Given the description of an element on the screen output the (x, y) to click on. 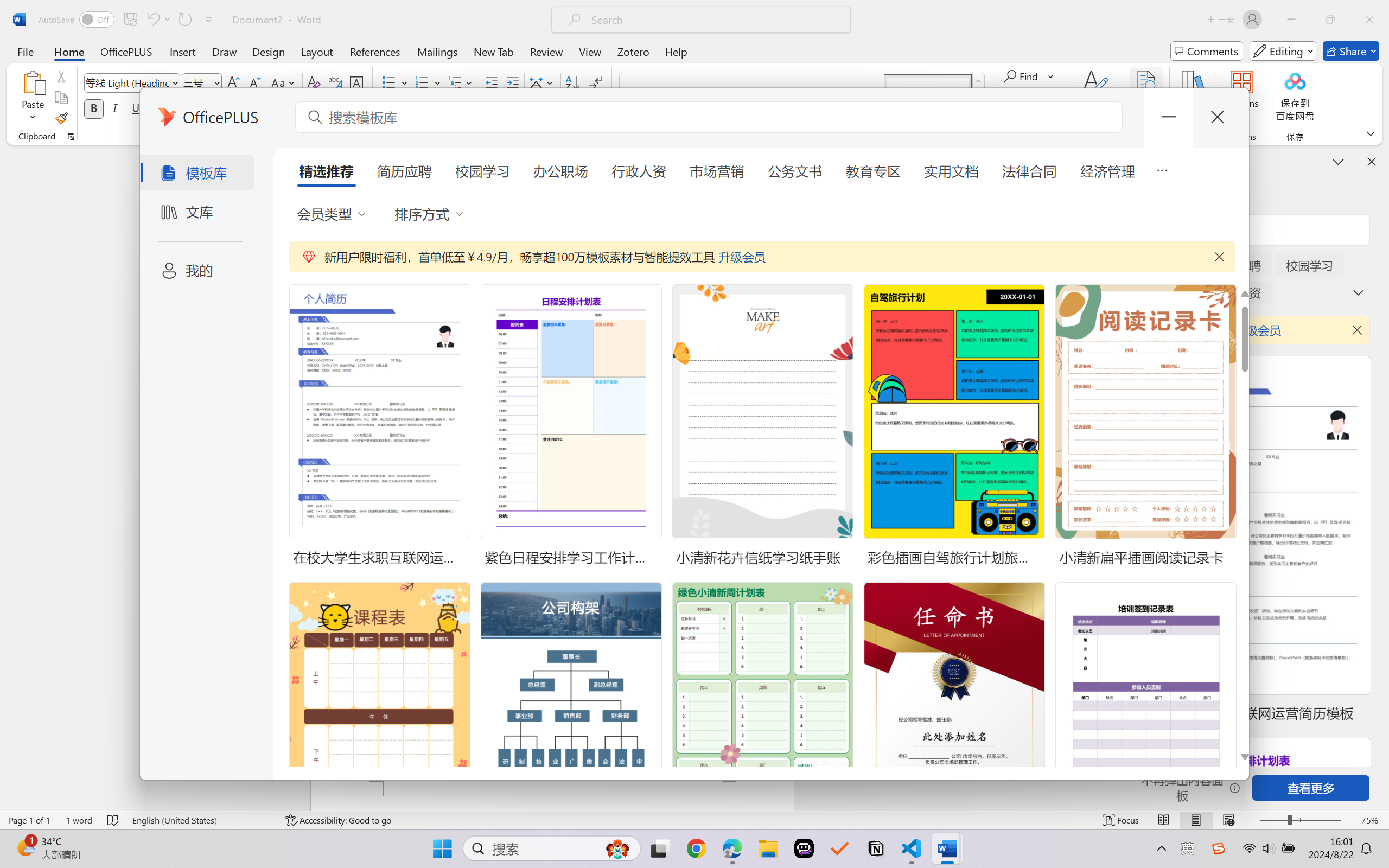
Mode (1283, 50)
Zoom (1300, 819)
Web Layout (1228, 819)
5 more tabs (1161, 169)
Insert (182, 51)
Copy (60, 97)
